Given the description of an element on the screen output the (x, y) to click on. 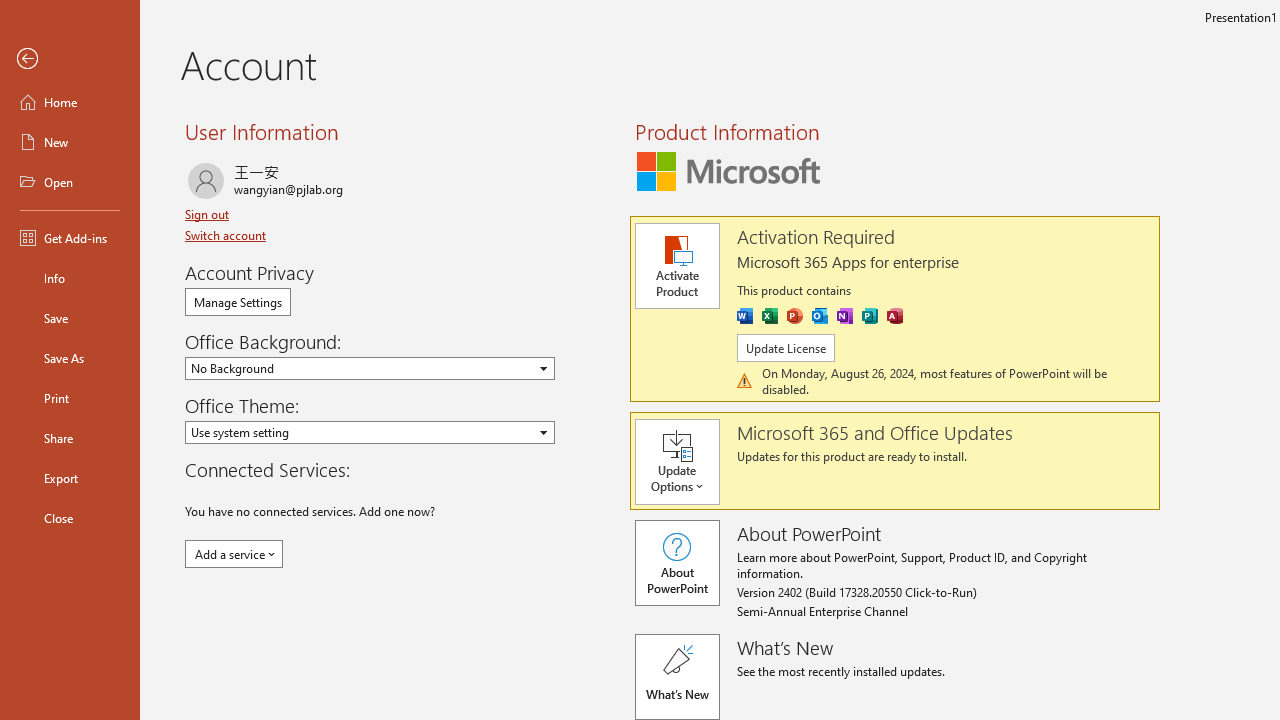
Switch account (227, 235)
Access (894, 316)
Publisher (869, 316)
Info (69, 277)
Office Theme (370, 432)
PowerPoint (794, 316)
Activate Product (676, 265)
Save As (69, 357)
Add a service (233, 554)
OneNote (844, 316)
Excel (769, 316)
Manage Settings (237, 302)
